Given the description of an element on the screen output the (x, y) to click on. 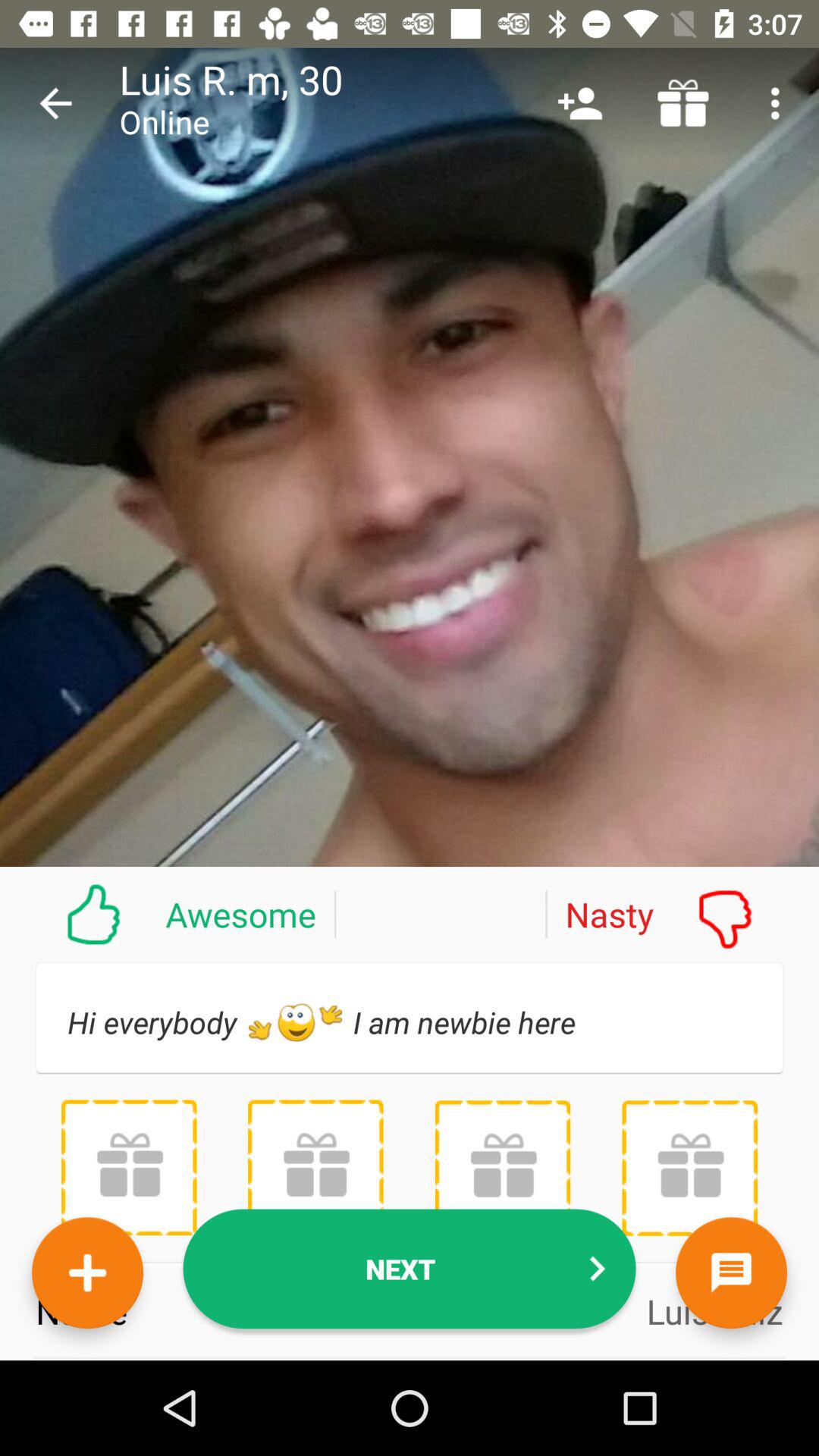
choose the item above the nasty (579, 103)
